Given the description of an element on the screen output the (x, y) to click on. 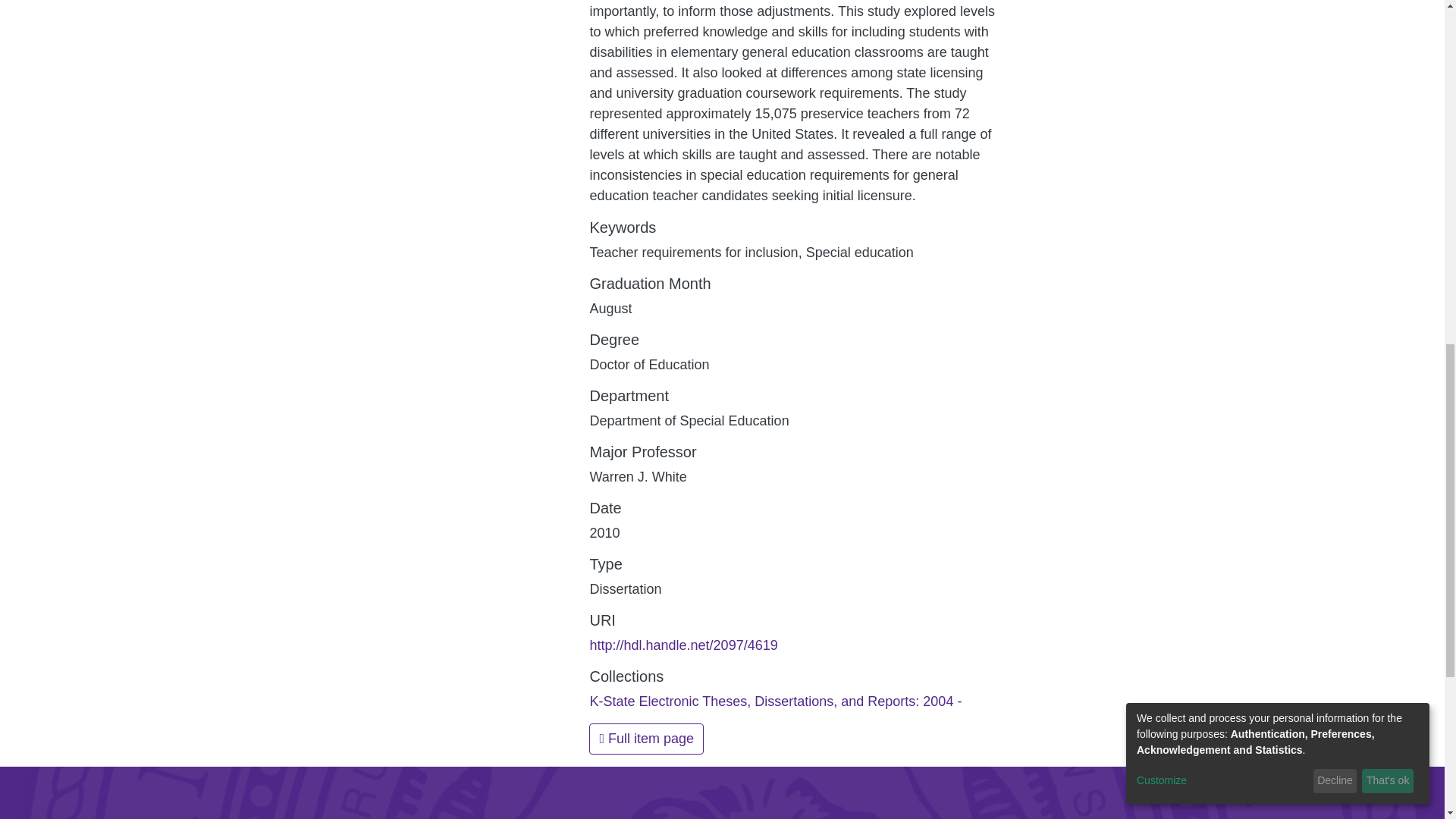
Full item page (646, 738)
